Given the description of an element on the screen output the (x, y) to click on. 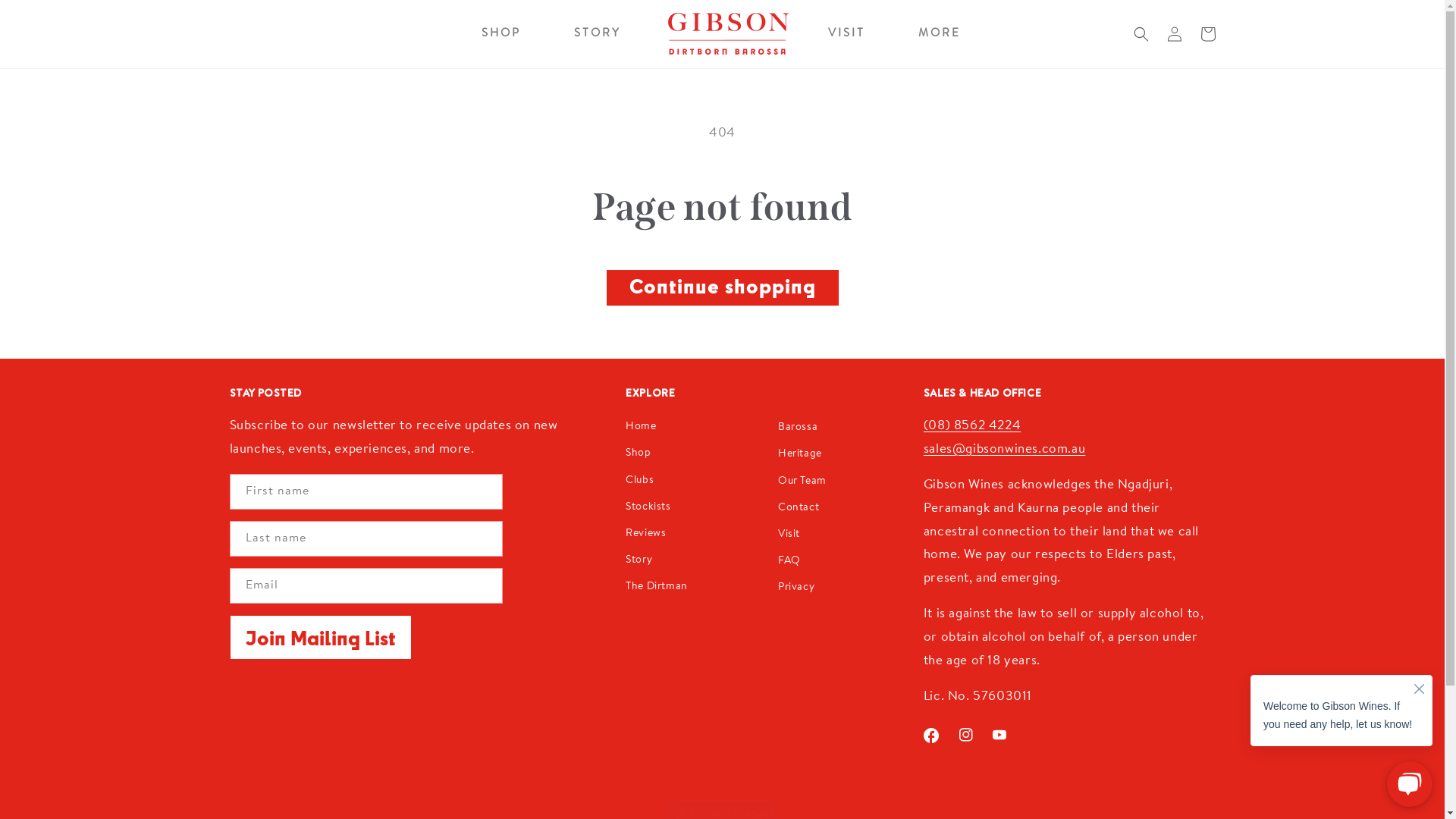
STORY Element type: text (597, 34)
Contact Element type: text (798, 508)
Our Team Element type: text (802, 481)
Reviews Element type: text (645, 533)
VISIT Element type: text (846, 34)
YouTube Element type: text (999, 734)
sales@gibsonwines.com.au Element type: text (1004, 448)
SHOP Element type: text (500, 34)
Instagram Element type: text (965, 734)
FAQ Element type: text (789, 561)
The Dirtman Element type: text (656, 587)
(08) 8562 4224 Element type: text (971, 425)
Barossa Element type: text (797, 427)
Join Mailing List Element type: text (320, 637)
Clubs Element type: text (639, 480)
Continue shopping Element type: text (722, 287)
Heritage Element type: text (800, 454)
Story Element type: text (638, 560)
Privacy Element type: text (796, 587)
Home Element type: text (640, 428)
Shop Element type: text (637, 453)
Facebook Element type: text (931, 735)
Log in Element type: text (1173, 33)
Stockists Element type: text (647, 507)
Visit Element type: text (789, 534)
Cart Element type: text (1206, 33)
